Given the description of an element on the screen output the (x, y) to click on. 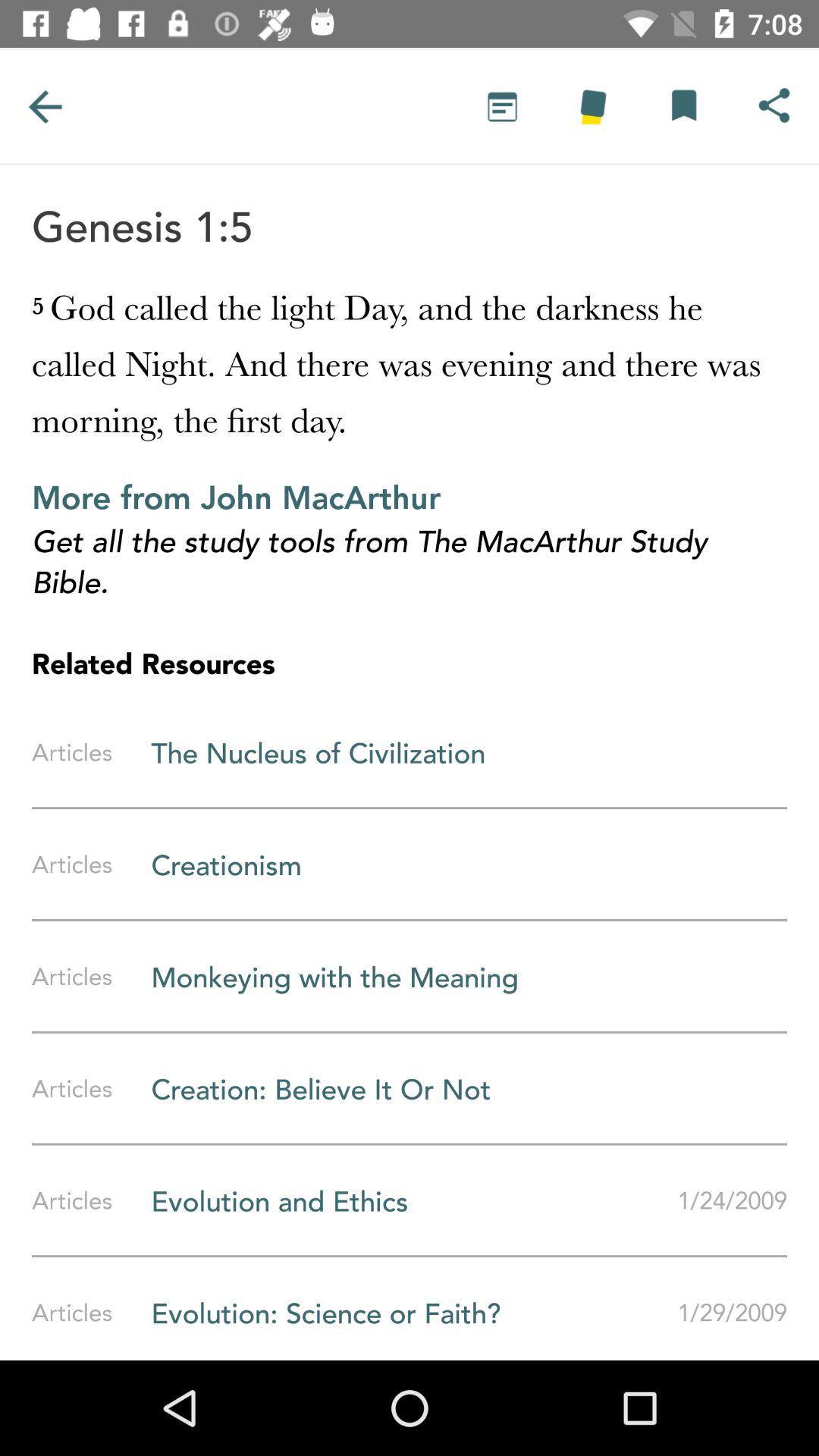
share (773, 106)
